Given the description of an element on the screen output the (x, y) to click on. 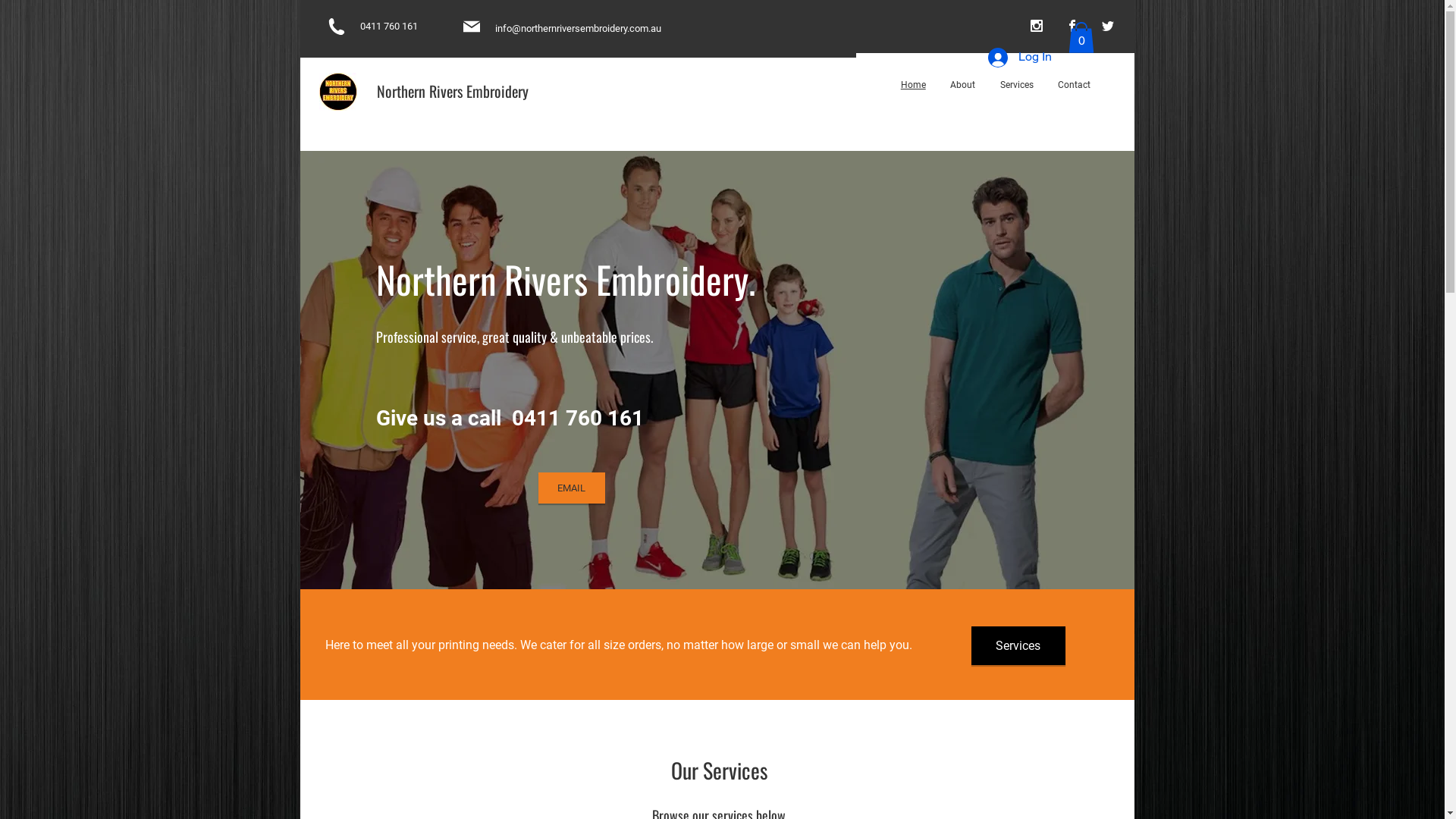
EMAIL Element type: text (571, 487)
About Element type: text (963, 84)
0 Element type: text (1080, 37)
Log In Element type: text (1018, 57)
Services Element type: text (1016, 84)
info@northernriversembroidery.com.au Element type: text (577, 28)
Services Element type: text (1017, 645)
Home Element type: text (913, 84)
Contact Element type: text (1074, 84)
